Given the description of an element on the screen output the (x, y) to click on. 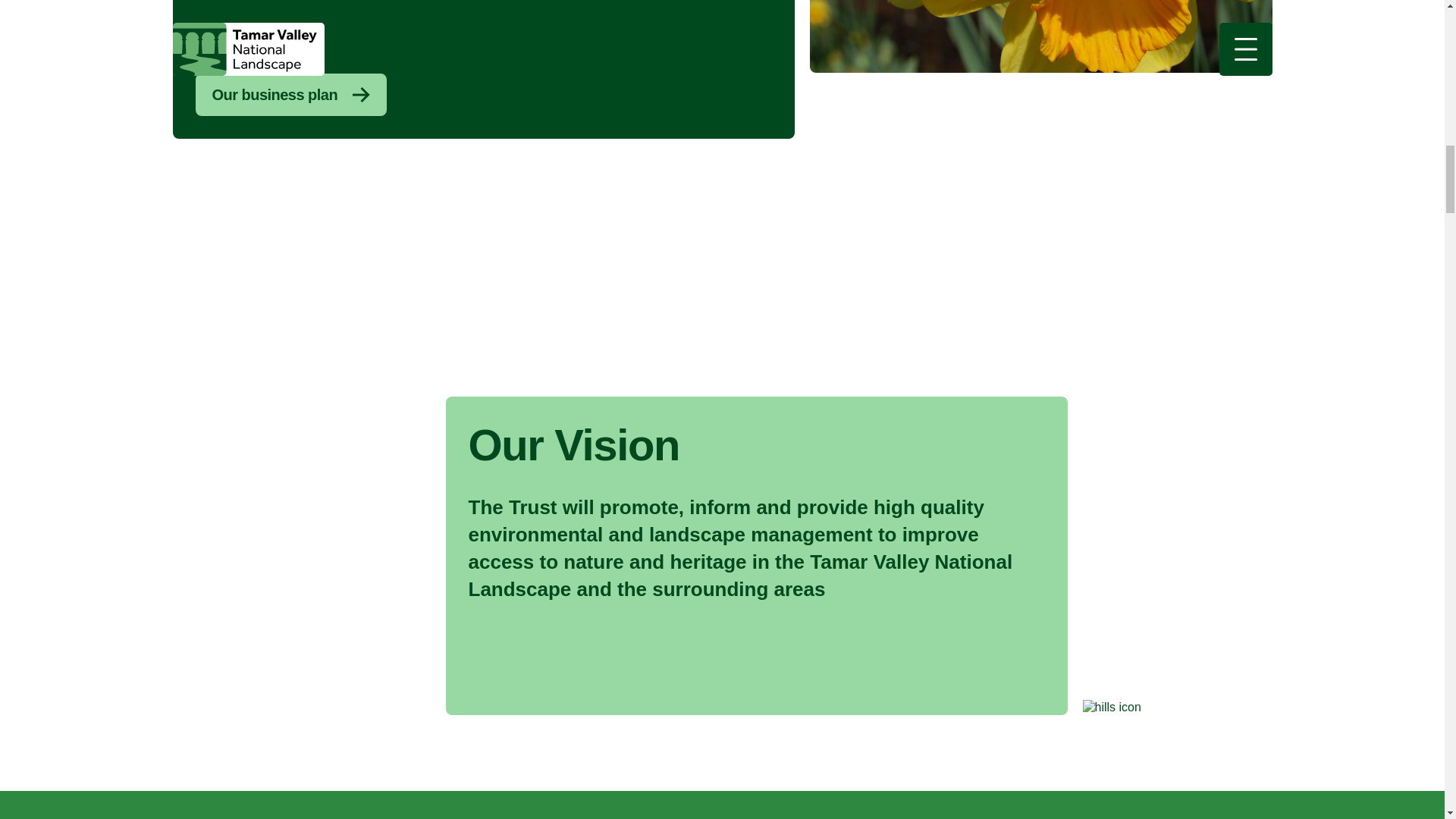
Our business plan (291, 94)
